Given the description of an element on the screen output the (x, y) to click on. 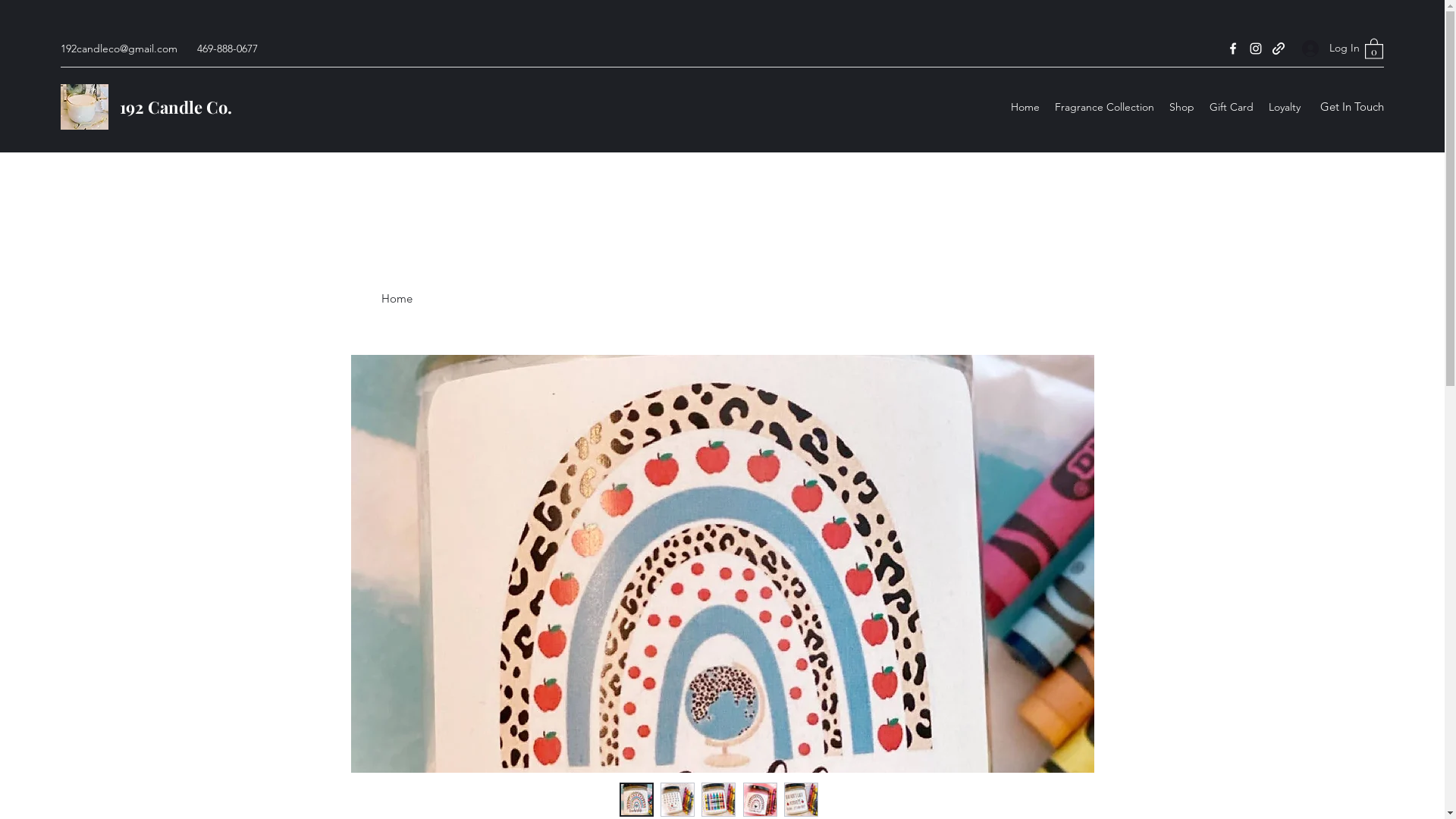
Gift Card Element type: text (1231, 106)
Fragrance Collection Element type: text (1104, 106)
192 Candle Co. Element type: text (175, 106)
Shop Element type: text (1181, 106)
Home Element type: text (395, 298)
0 Element type: text (1374, 48)
192candleco@gmail.com Element type: text (118, 48)
Log In Element type: text (1325, 48)
Home Element type: text (1025, 106)
Loyalty Element type: text (1284, 106)
